Given the description of an element on the screen output the (x, y) to click on. 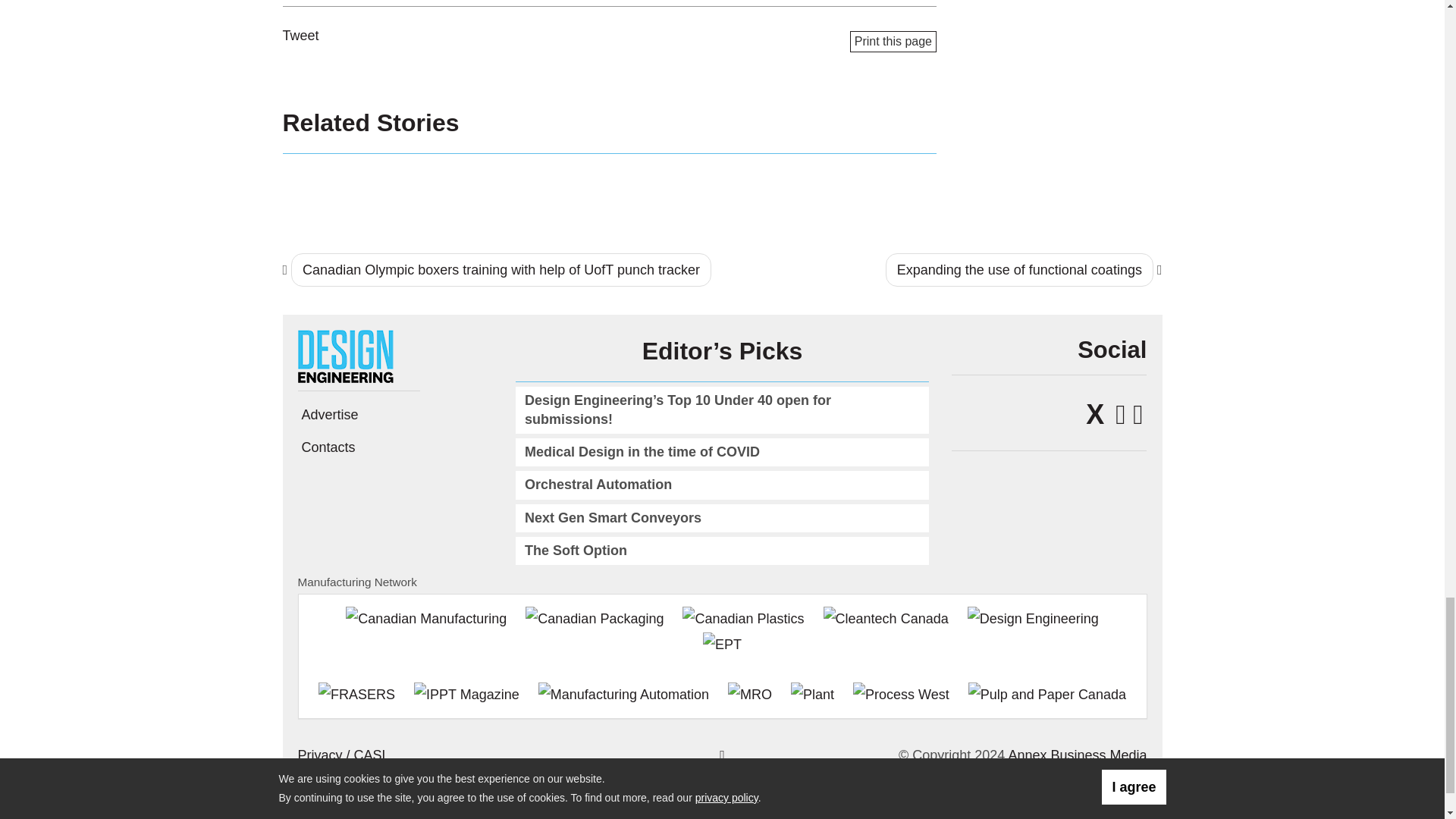
Design Engineering (350, 355)
Annex Business Media (1077, 754)
